Given the description of an element on the screen output the (x, y) to click on. 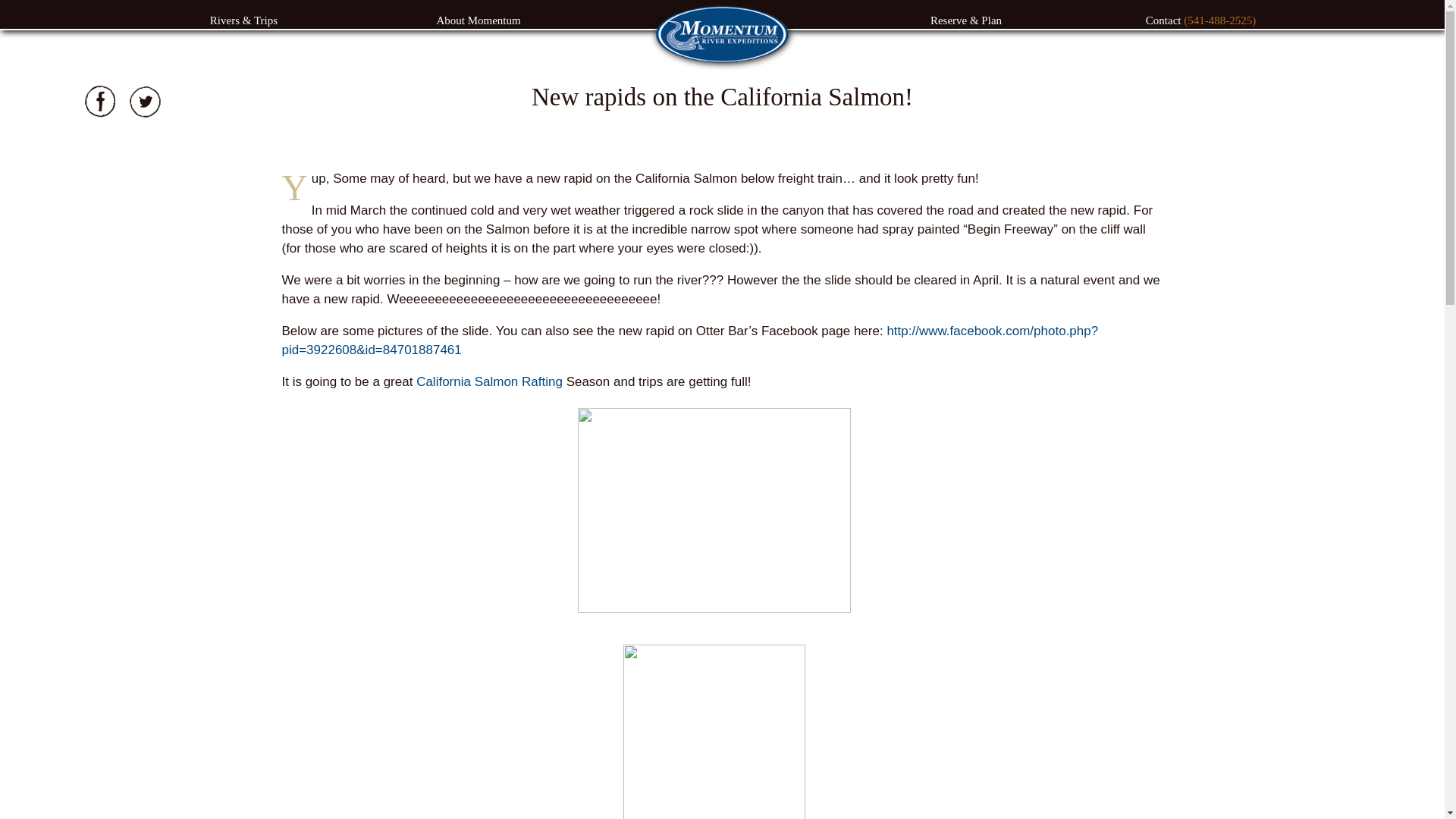
facebook-c (99, 101)
About Momentum (477, 25)
twitter-icon (144, 101)
Contact (1164, 25)
